Given the description of an element on the screen output the (x, y) to click on. 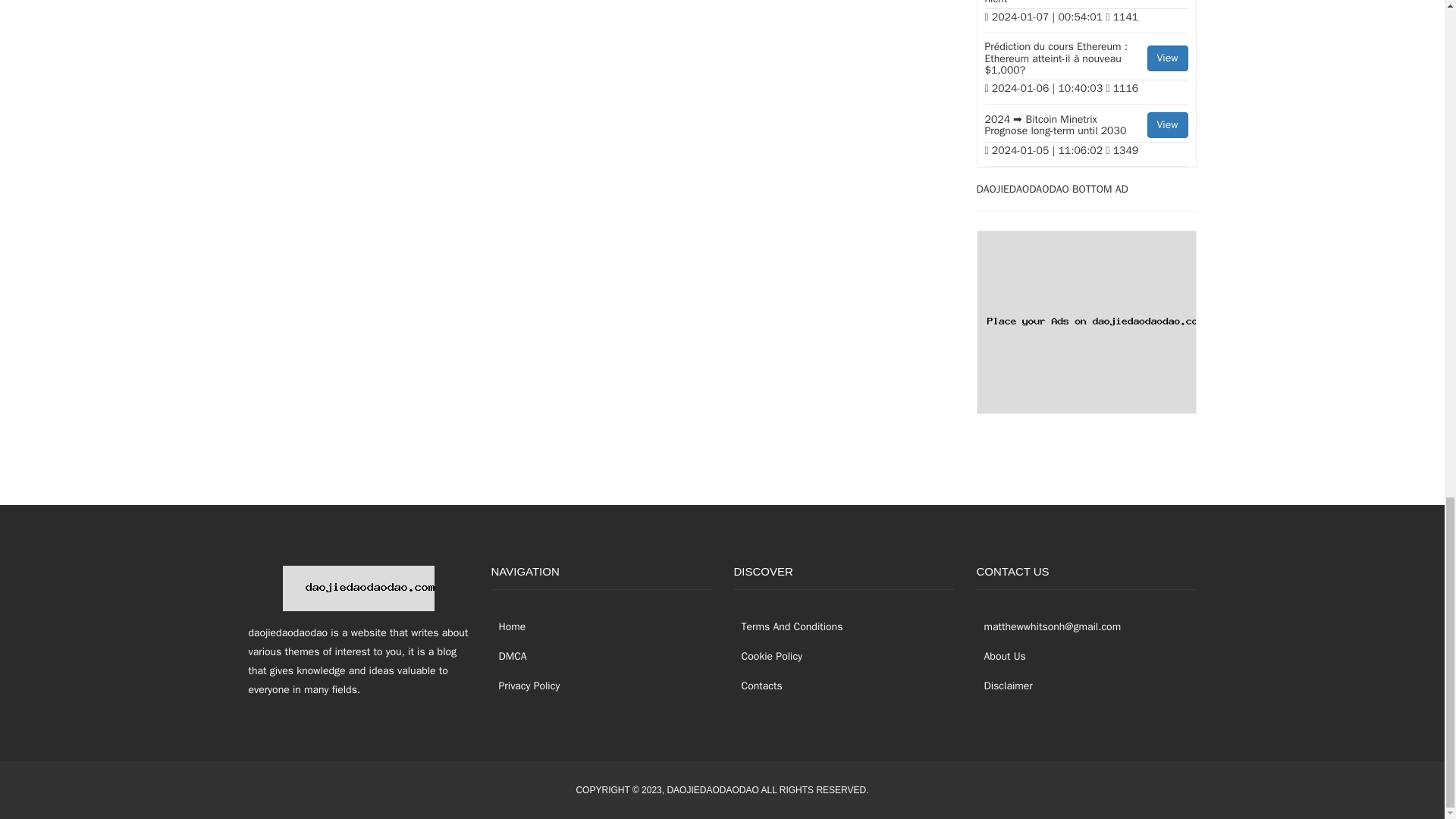
View (1167, 58)
Cookie Policy (768, 656)
About Us (1001, 656)
DMCA (509, 656)
Disclaimer (1004, 685)
Contacts (758, 685)
Privacy Policy (526, 685)
View (1167, 125)
Home (508, 626)
DAOJIEDAODAODAO (712, 789)
Terms And Conditions (788, 626)
